Given the description of an element on the screen output the (x, y) to click on. 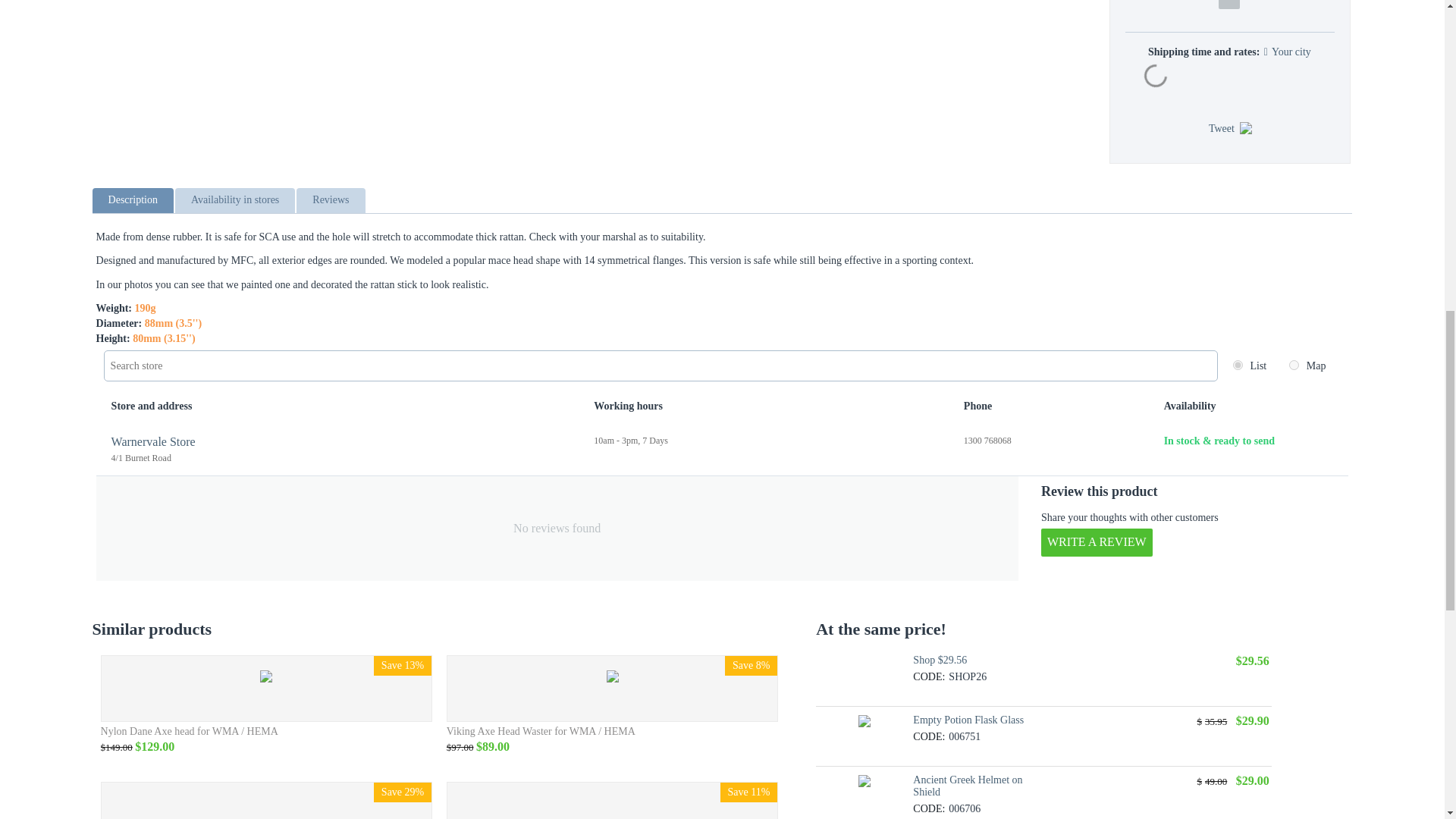
on (1238, 365)
on (1293, 365)
on (1238, 365)
on (1293, 365)
